Given the description of an element on the screen output the (x, y) to click on. 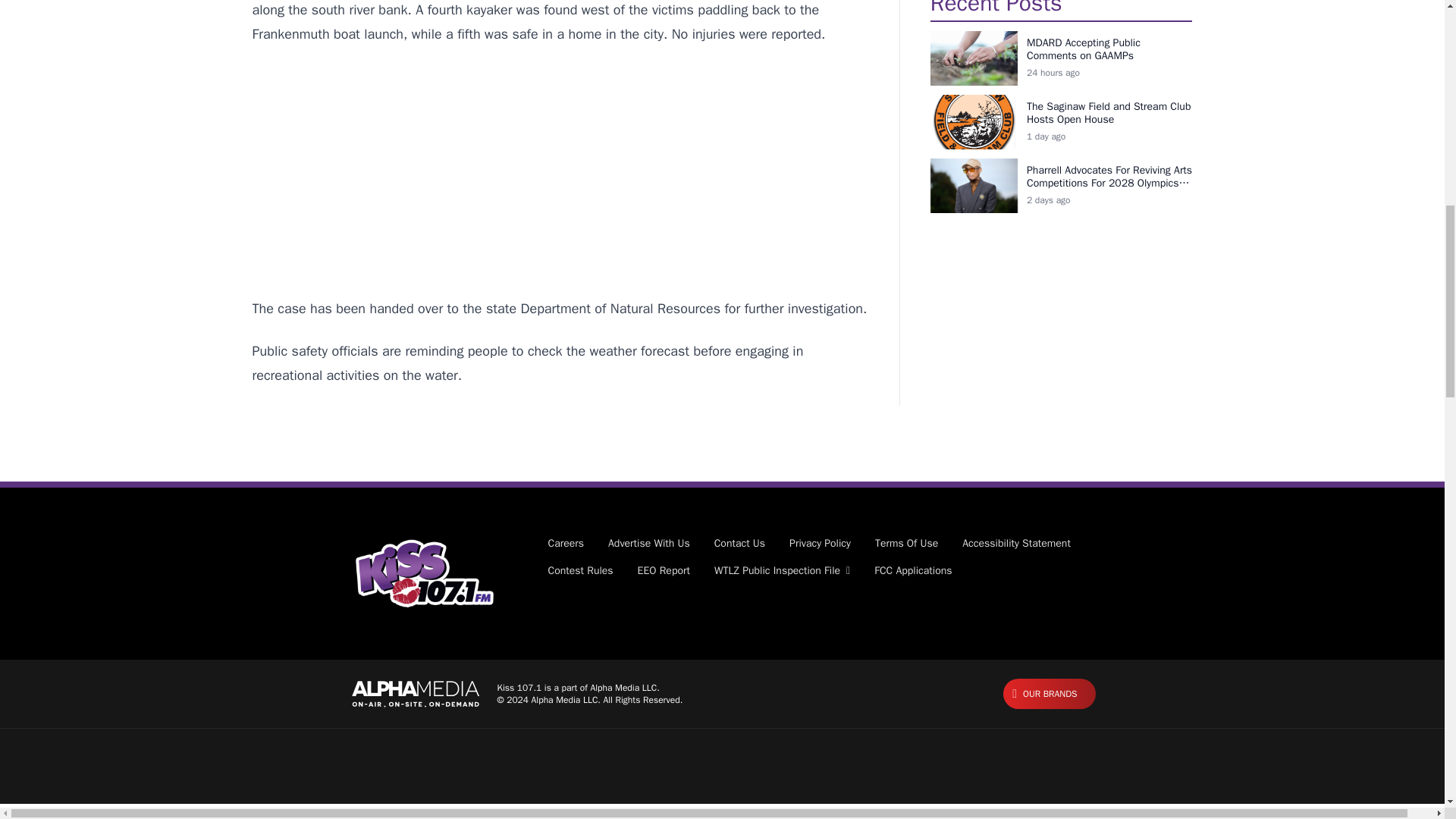
3rd party ad content (560, 171)
